Given the description of an element on the screen output the (x, y) to click on. 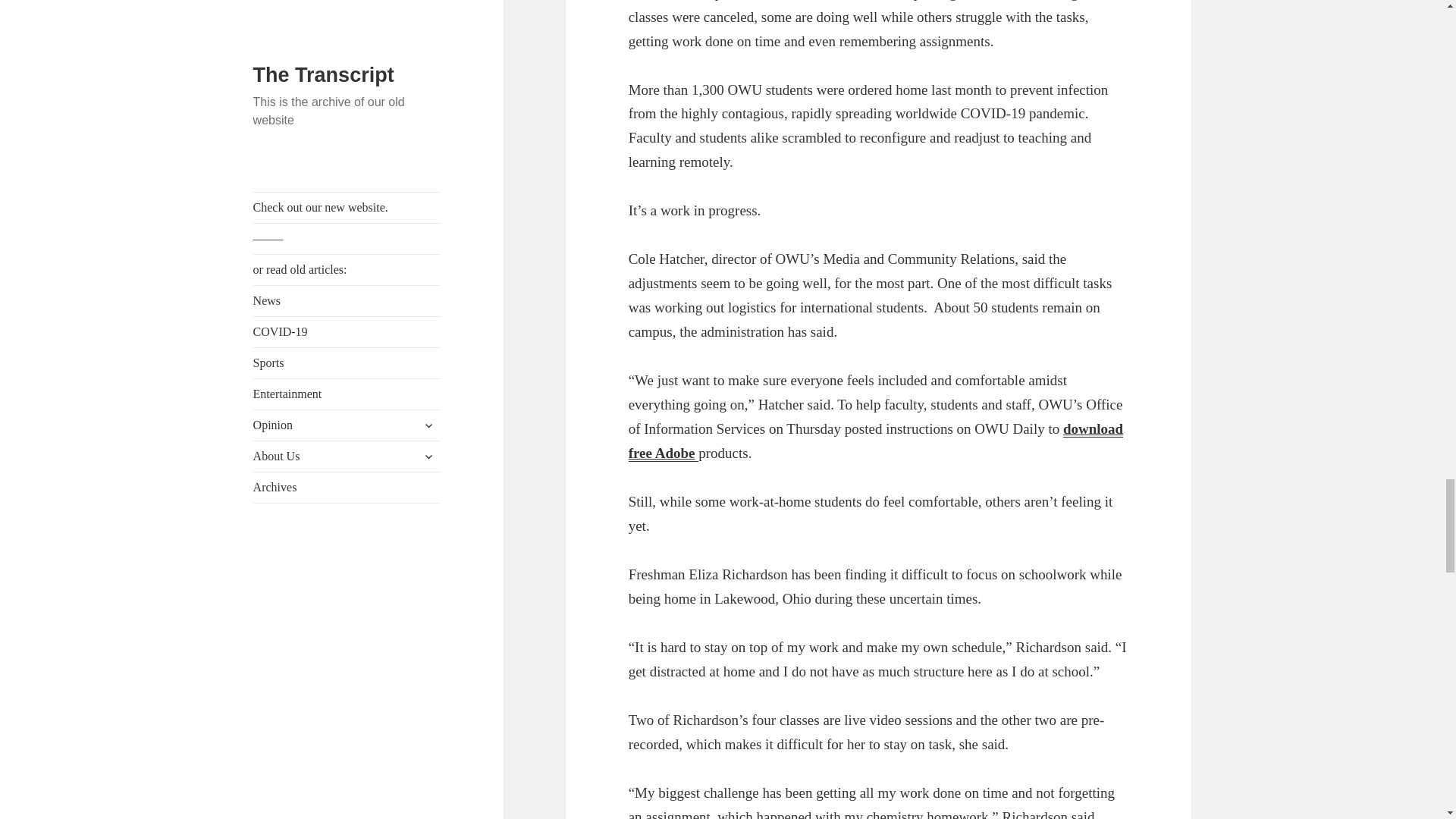
download free Adobe  (875, 440)
